Given the description of an element on the screen output the (x, y) to click on. 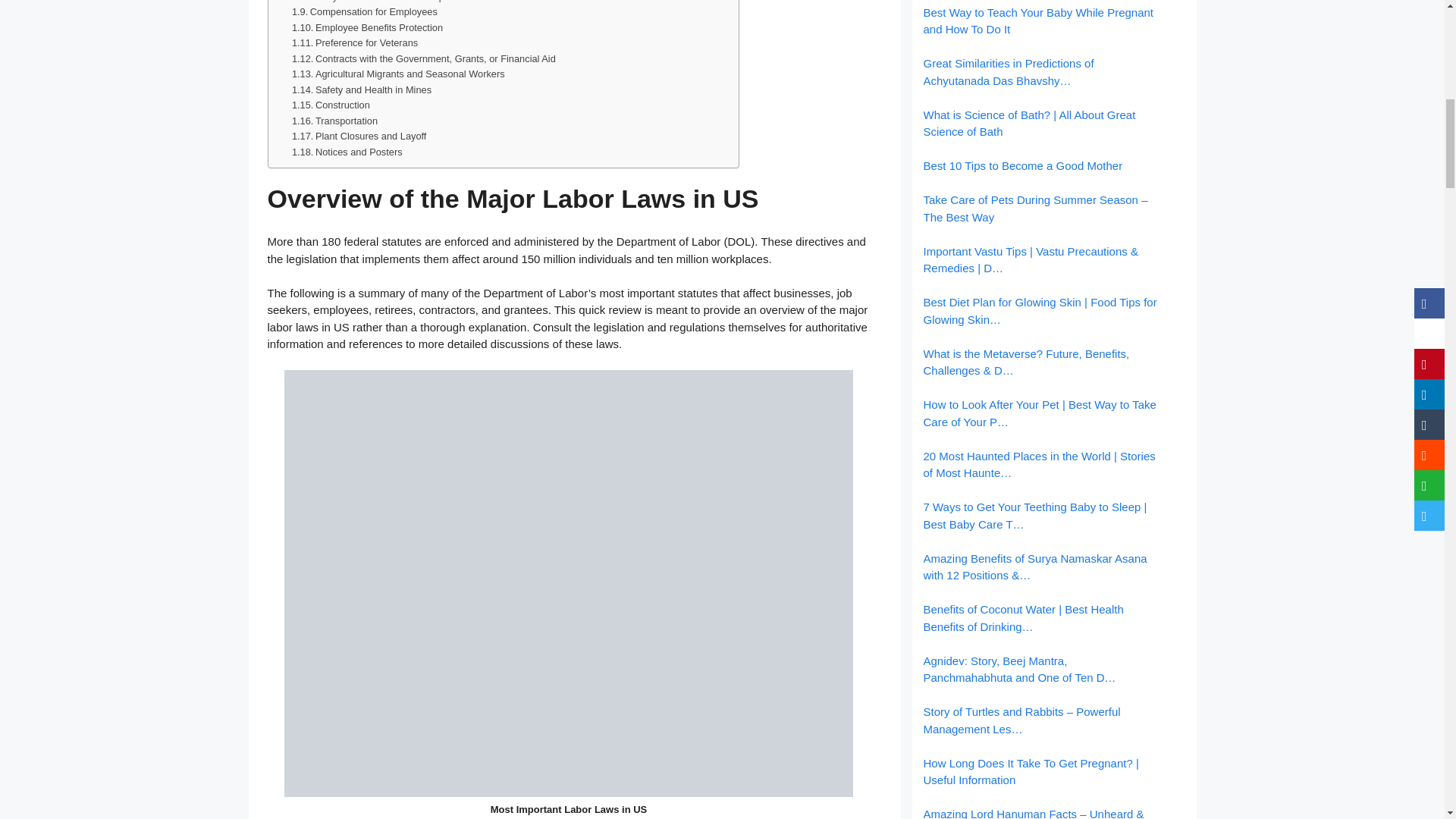
Safety and Health in Mines (361, 90)
Agricultural Migrants and Seasonal Workers (398, 74)
Compensation for Employees (365, 12)
Employee Benefits Protection (367, 28)
Safety and Health in the Workplace (377, 2)
Contracts with the Government, Grants, or Financial Aid (424, 59)
Preference for Veterans (354, 43)
